Given the description of an element on the screen output the (x, y) to click on. 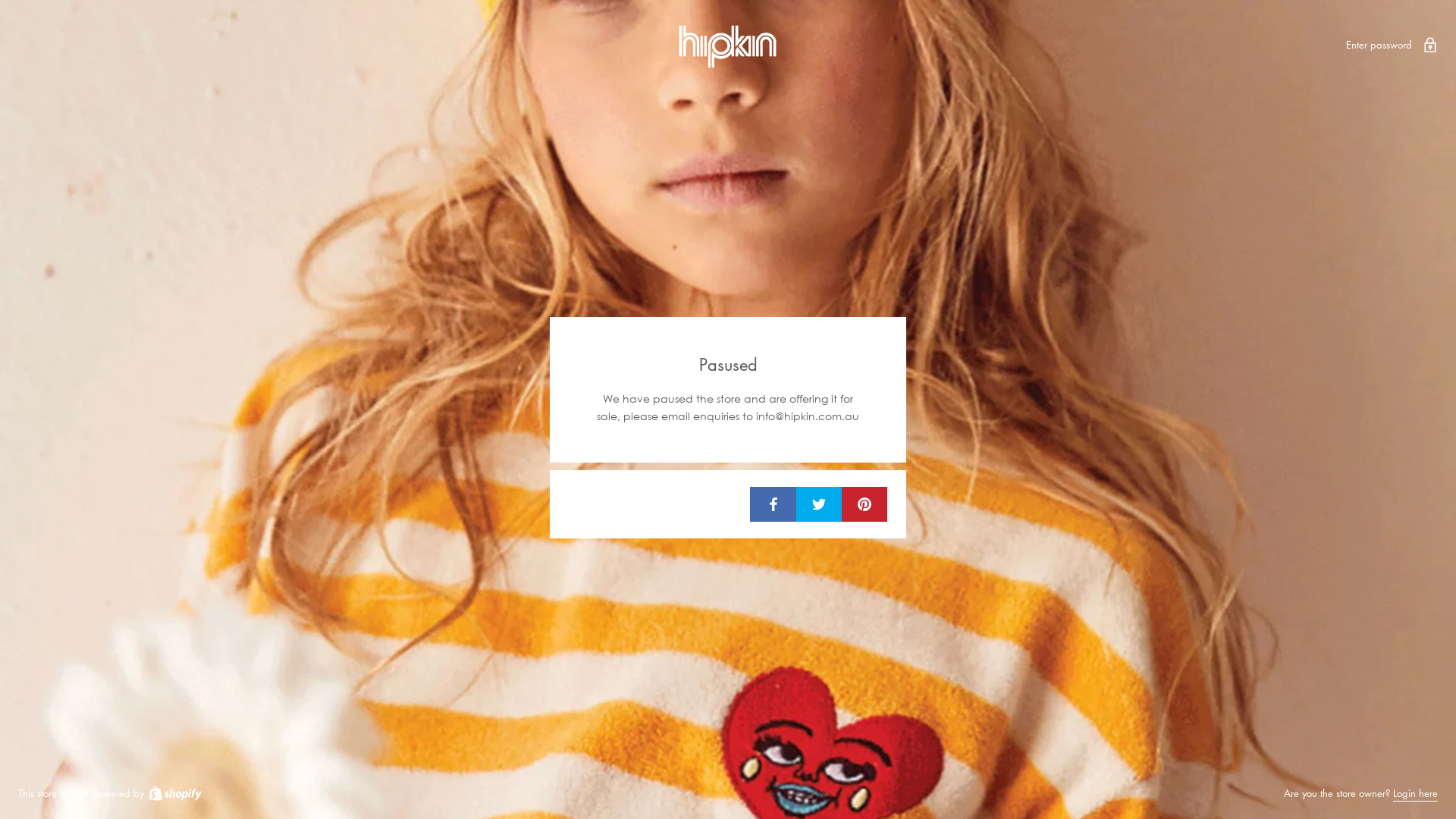
Create your own online store with Shopify Element type: hover (174, 792)
Login here Element type: text (1415, 792)
Enter password Element type: text (1391, 44)
